Given the description of an element on the screen output the (x, y) to click on. 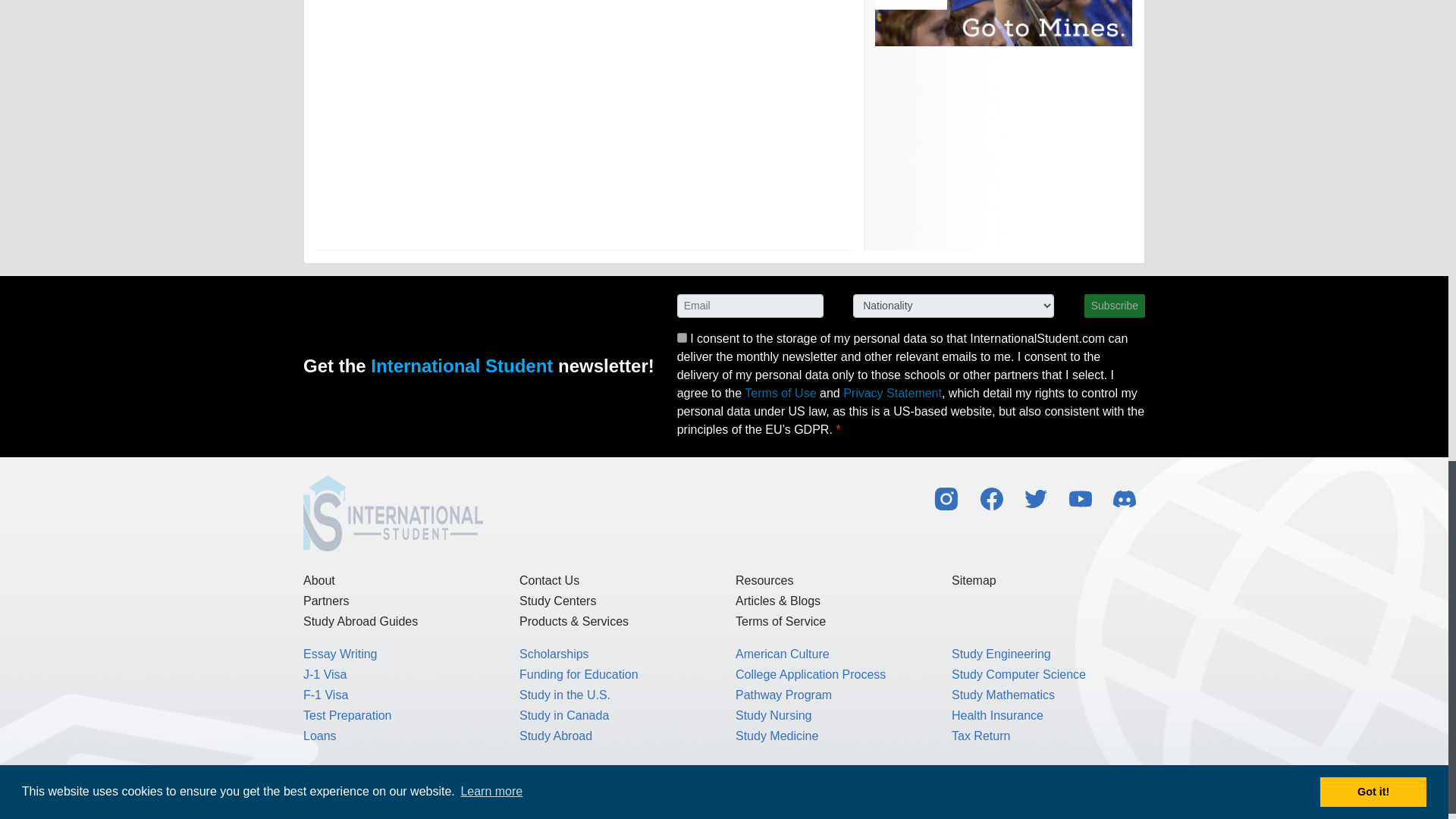
1 (682, 337)
Advertisement (583, 122)
